Given the description of an element on the screen output the (x, y) to click on. 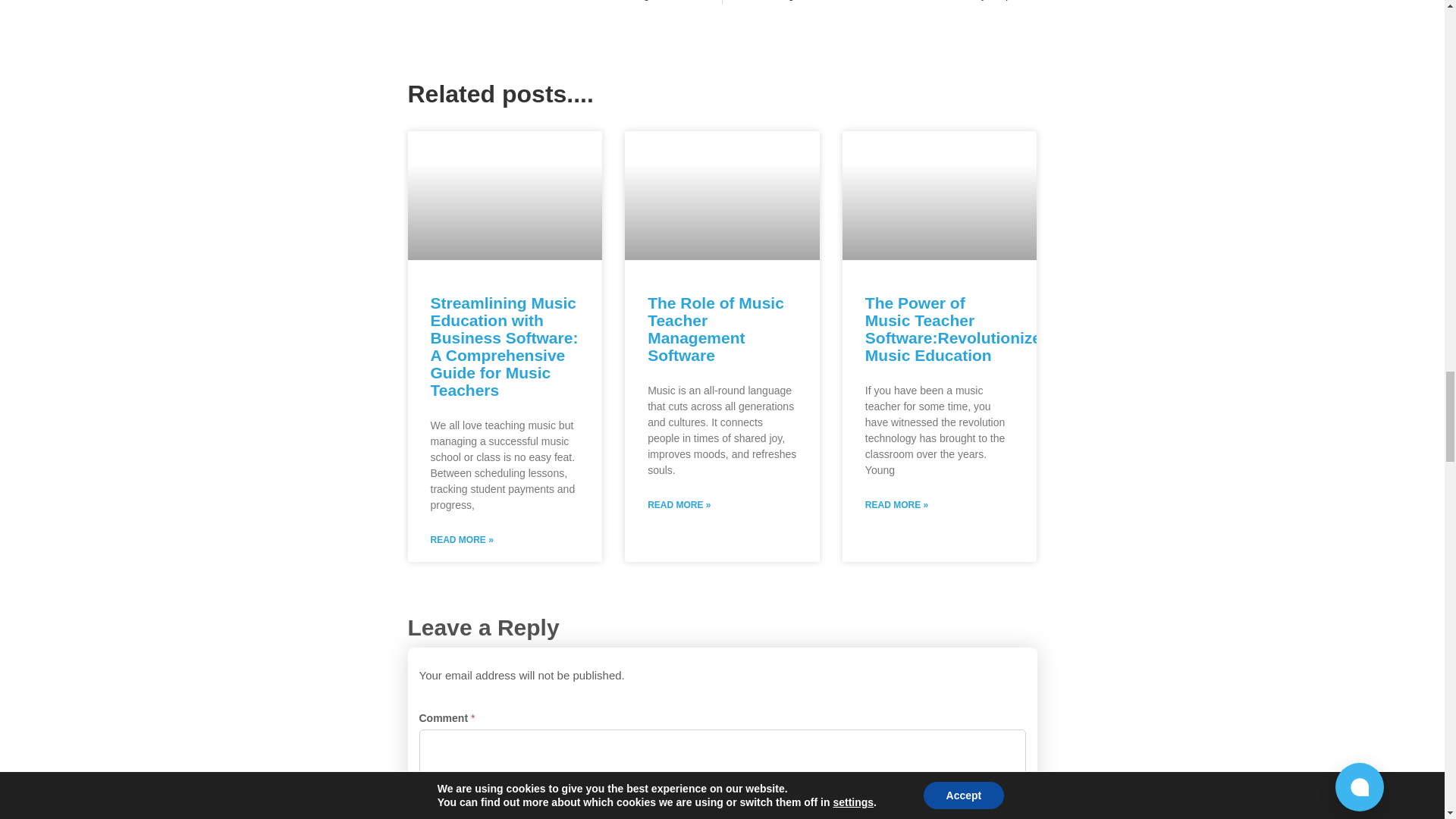
The Role of Music Teacher Management Software (715, 328)
